Given the description of an element on the screen output the (x, y) to click on. 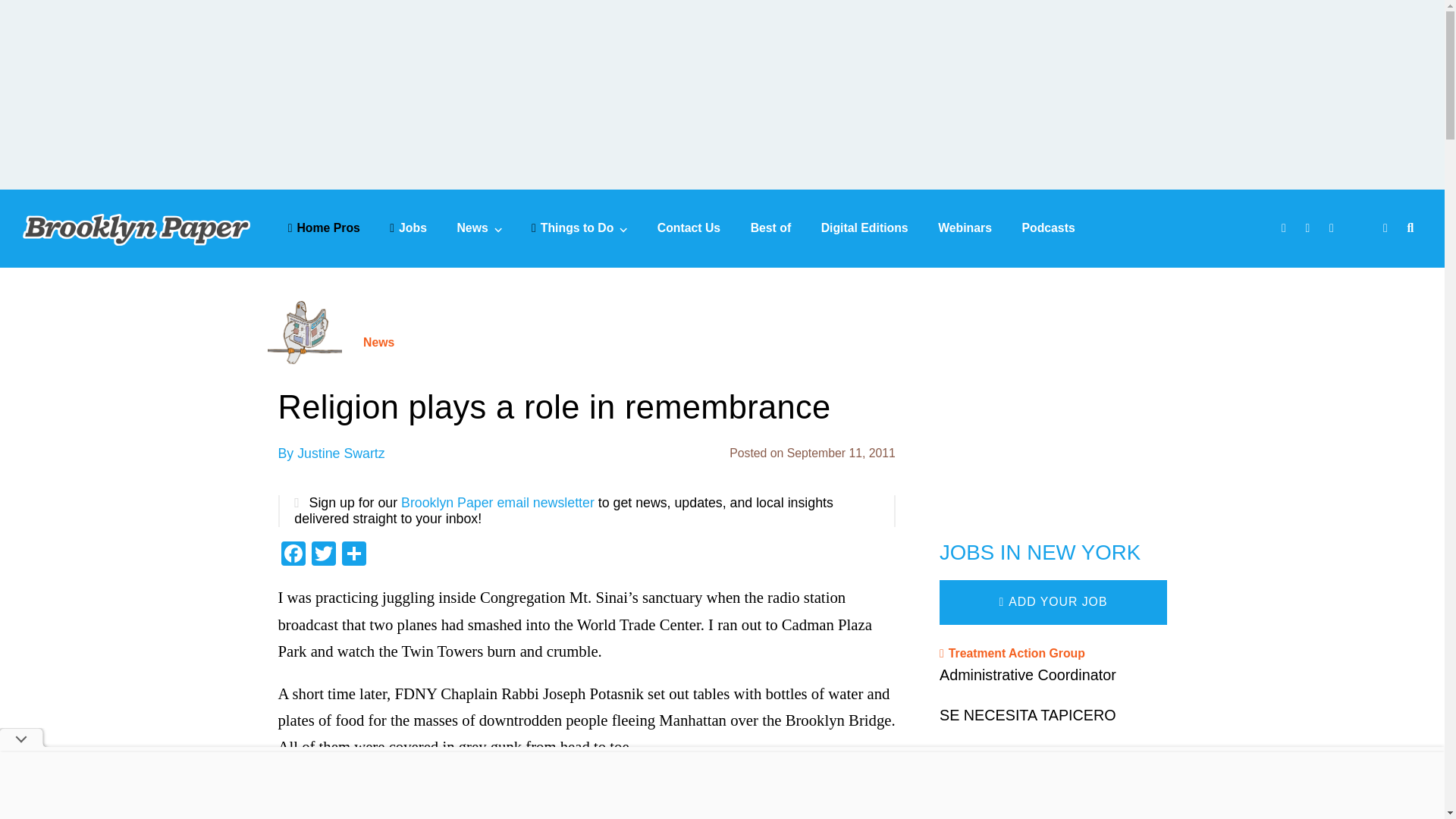
Facebook (292, 555)
Things to Do (579, 227)
Best of (771, 227)
Webinars (964, 227)
News (478, 227)
3rd party ad content (1052, 407)
Contact Us (689, 227)
Twitter (322, 555)
Home Pros (323, 227)
Podcasts (1048, 227)
Digital Editions (864, 227)
Jobs (408, 227)
